Given the description of an element on the screen output the (x, y) to click on. 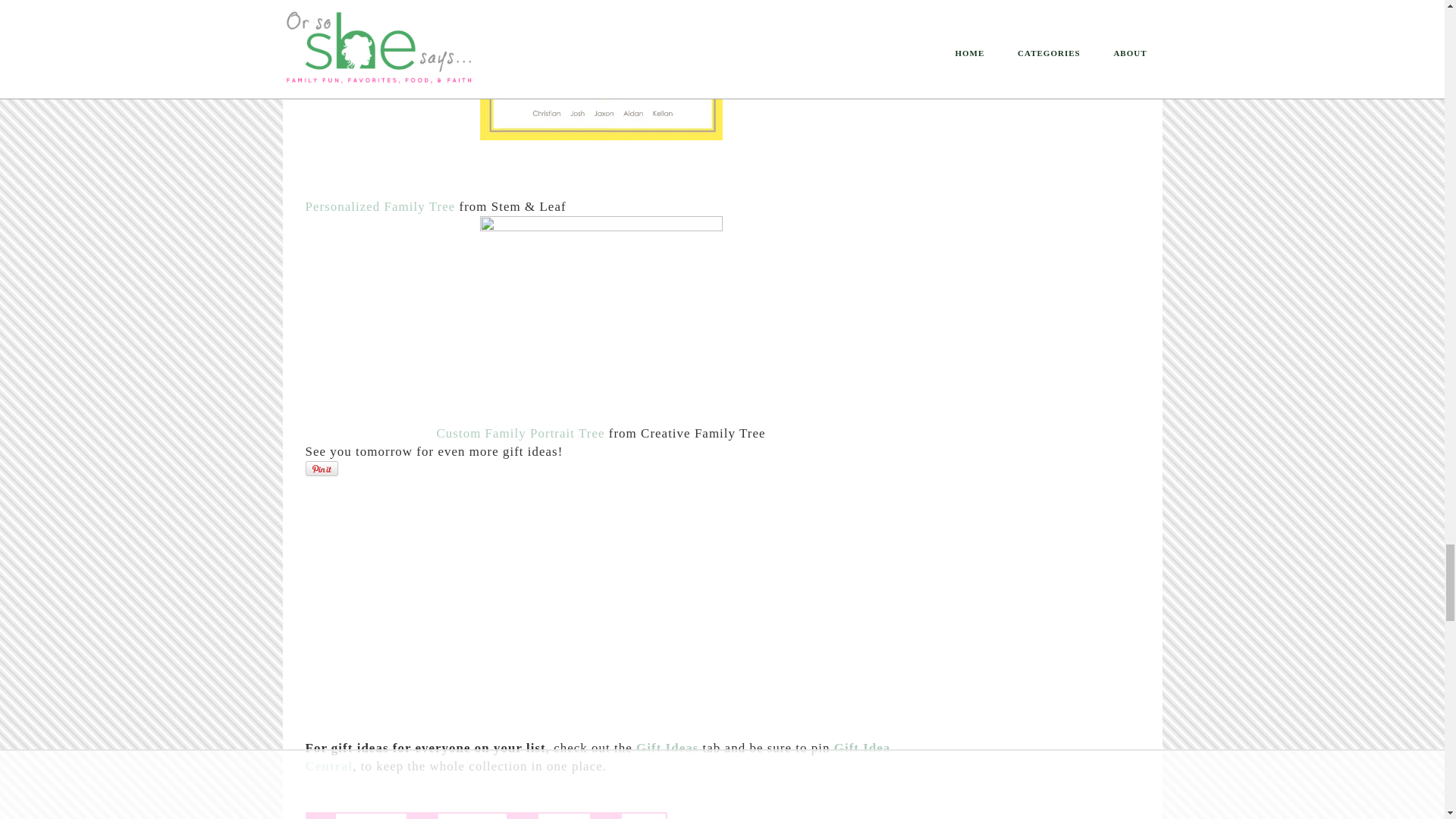
Save to Pinterest (355, 815)
Send over email (628, 815)
Share on Facebook (456, 815)
Pin It (320, 468)
Share on X (549, 815)
